Given the description of an element on the screen output the (x, y) to click on. 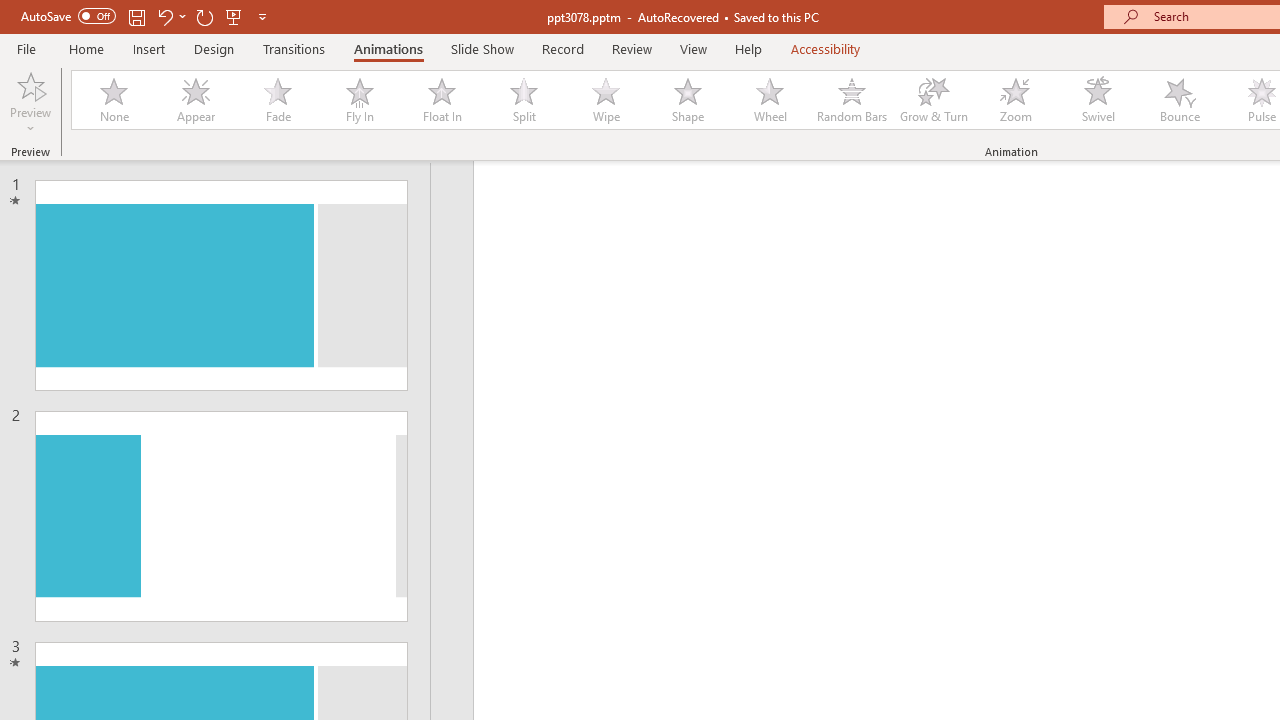
Shape (687, 100)
Split (523, 100)
Grow & Turn (934, 100)
Float In (441, 100)
